Given the description of an element on the screen output the (x, y) to click on. 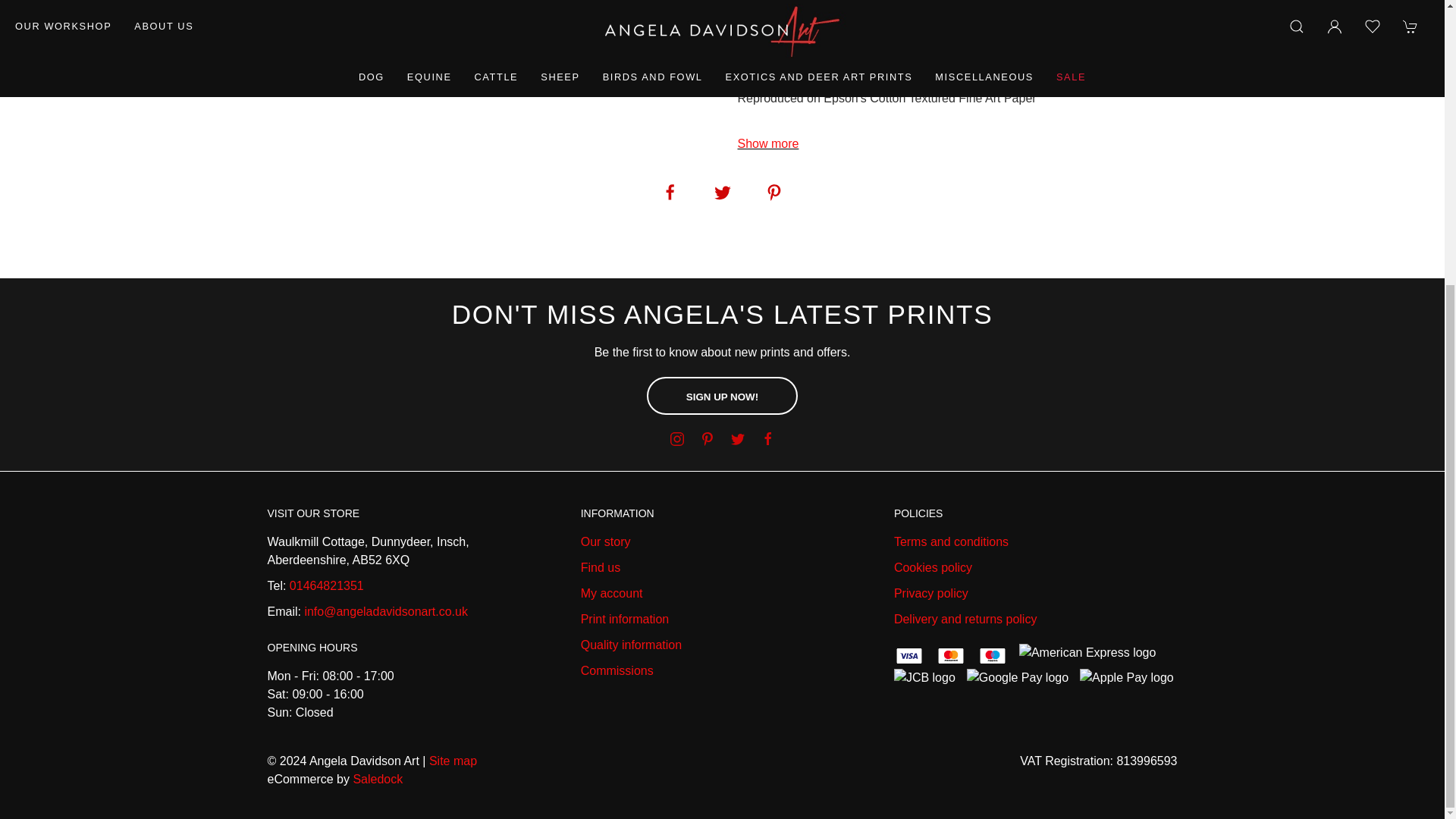
Angela Davidson Art Pinterest (706, 438)
Angela Davidson Art Instagram (676, 438)
Show more (766, 143)
Angela Davidson Art Facebook (767, 438)
Angela Davidson Art Twitter (736, 438)
